Given the description of an element on the screen output the (x, y) to click on. 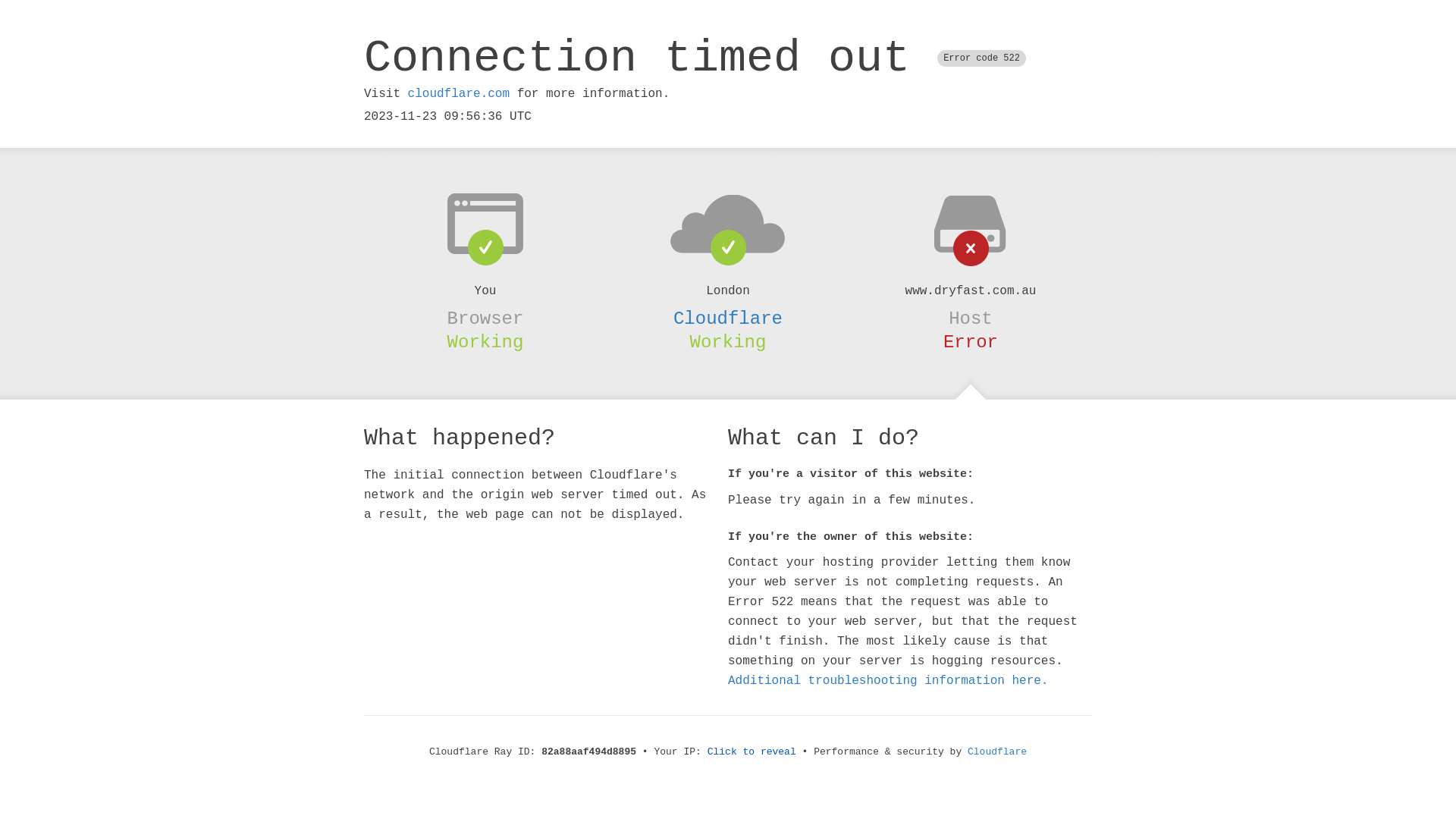
Click to reveal Element type: text (751, 751)
Cloudflare Element type: text (996, 751)
cloudflare.com Element type: text (458, 93)
Cloudflare Element type: text (727, 318)
Additional troubleshooting information here. Element type: text (888, 680)
